Given the description of an element on the screen output the (x, y) to click on. 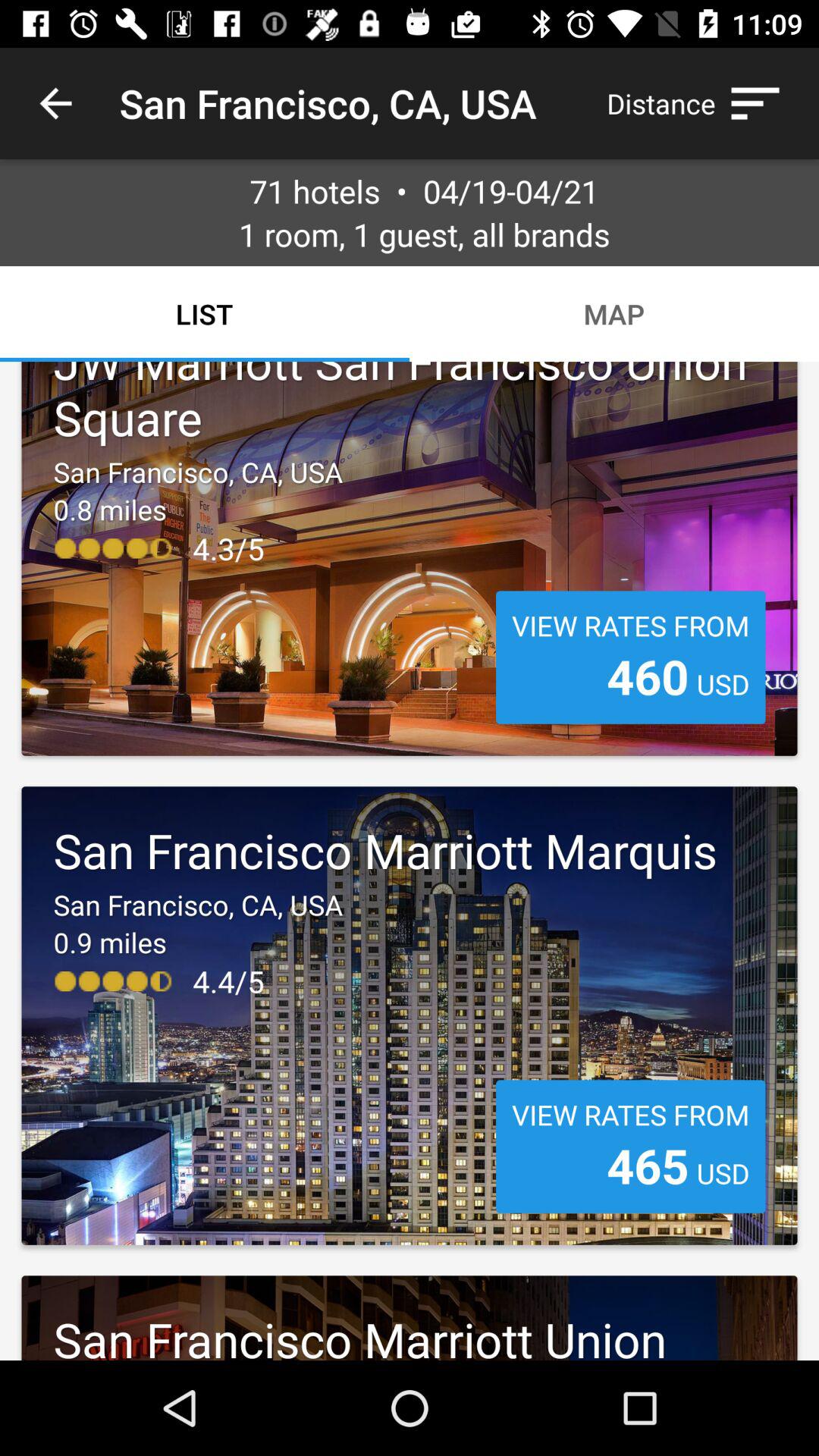
flip to 465 item (647, 1165)
